Given the description of an element on the screen output the (x, y) to click on. 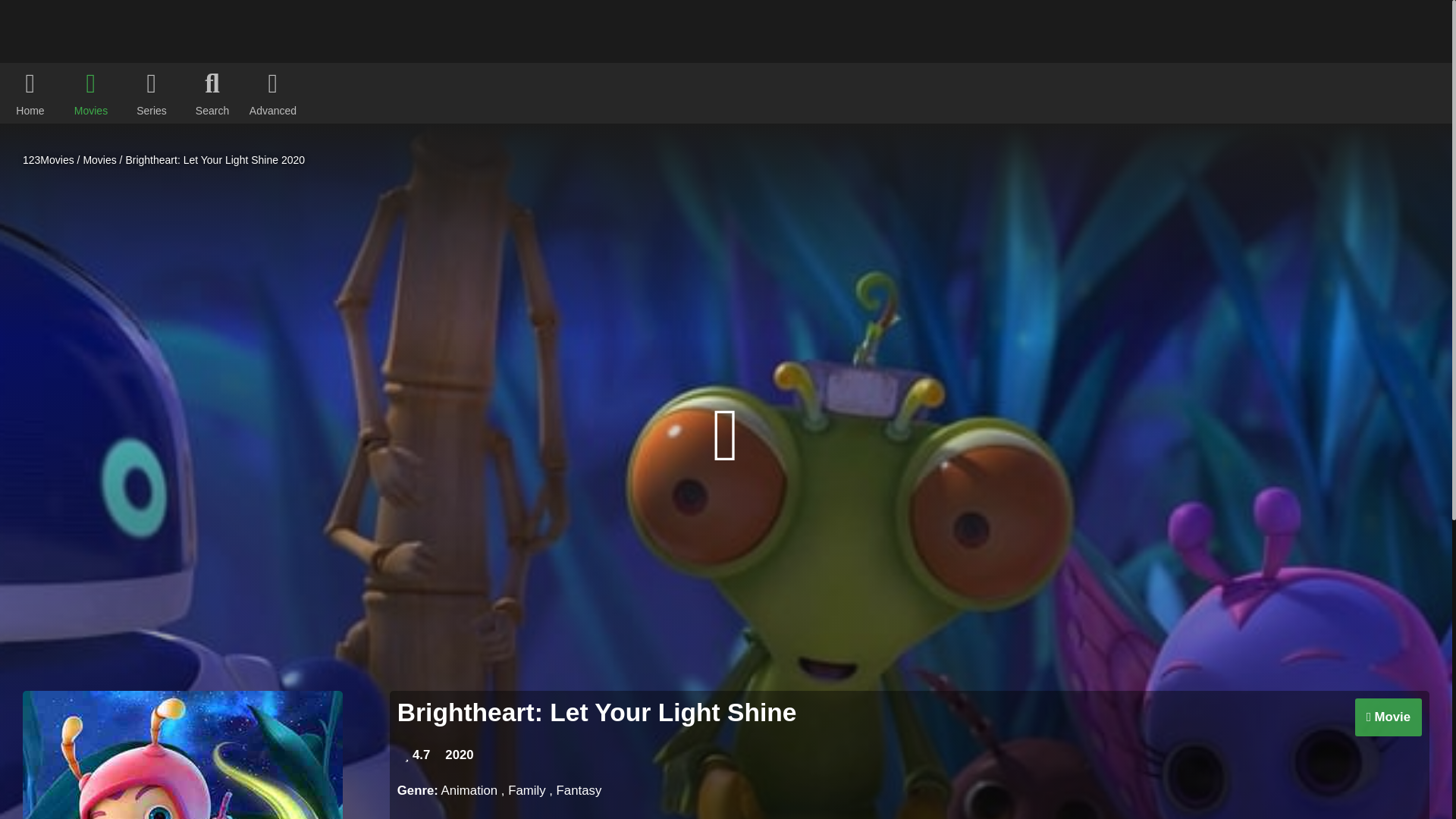
123Movies (48, 159)
123Movies (48, 159)
Release date (459, 754)
Movies (99, 159)
Rating (417, 754)
Brightheart: Let Your Light Shine 2020 (214, 159)
Movies (99, 159)
Brightheart: Let Your Light Shine 2020 (214, 159)
